Given the description of an element on the screen output the (x, y) to click on. 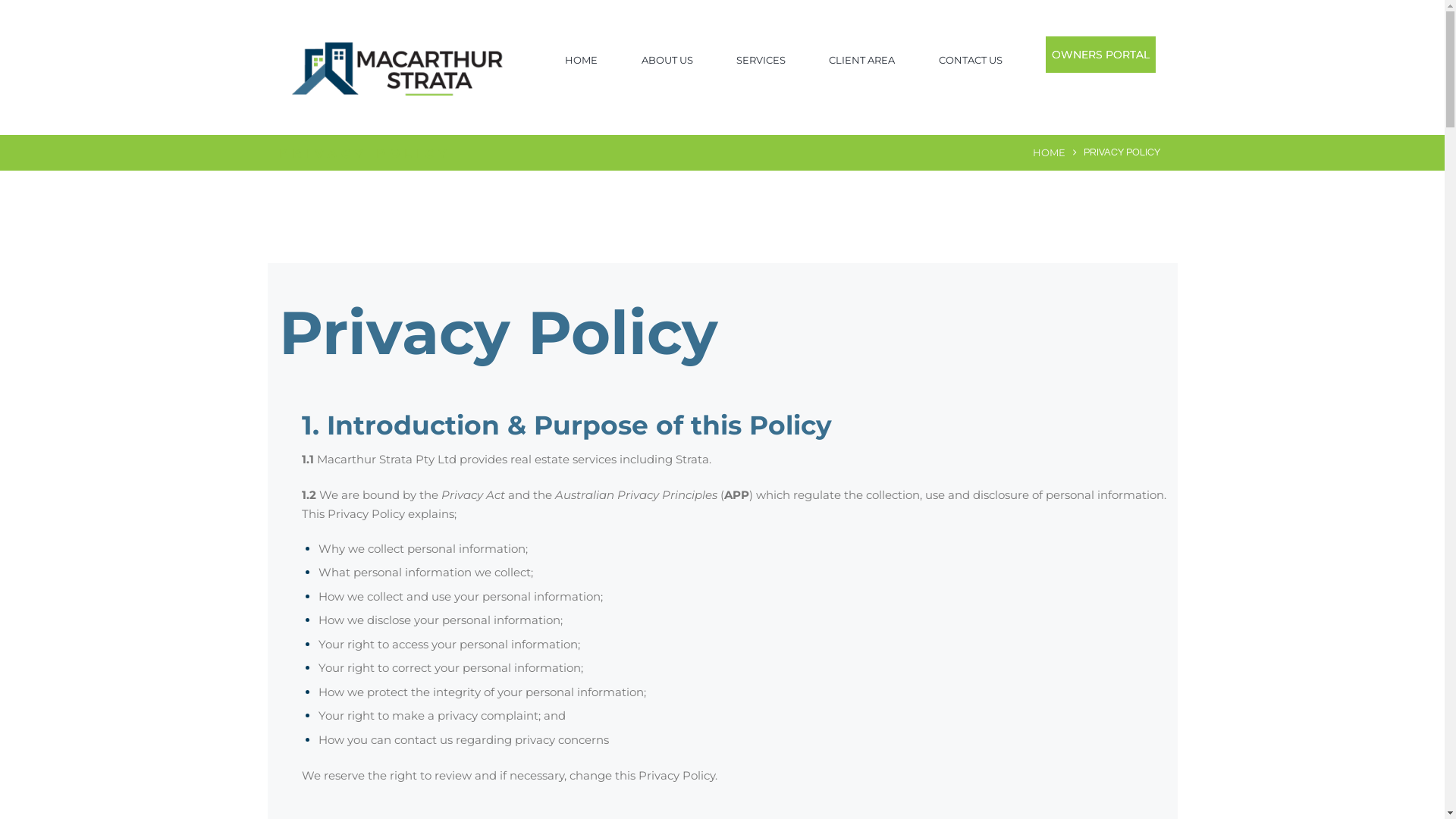
HOME Element type: text (1048, 152)
CLIENT AREA Element type: text (861, 60)
SERVICES Element type: text (760, 60)
CONTACT US Element type: text (970, 60)
OWNERS PORTAL Element type: text (1100, 54)
HOME Element type: text (580, 60)
ABOUT US Element type: text (667, 60)
